Given the description of an element on the screen output the (x, y) to click on. 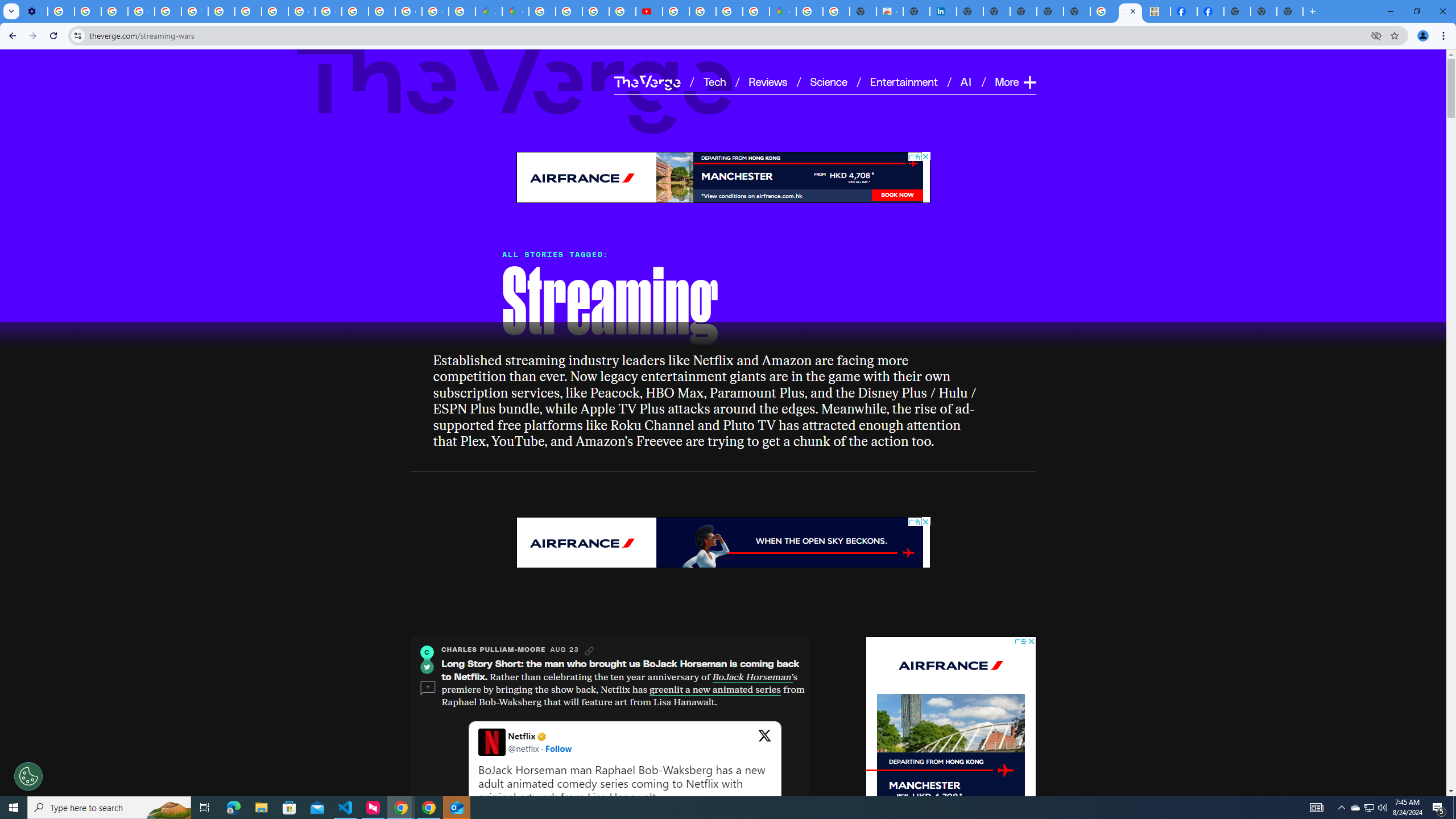
Streaming - The Verge (1130, 11)
Cookie Policy | LinkedIn (943, 11)
greenlit a new animated series (714, 689)
Tech (714, 81)
Google Maps (515, 11)
YouTube (194, 11)
